Given the description of an element on the screen output the (x, y) to click on. 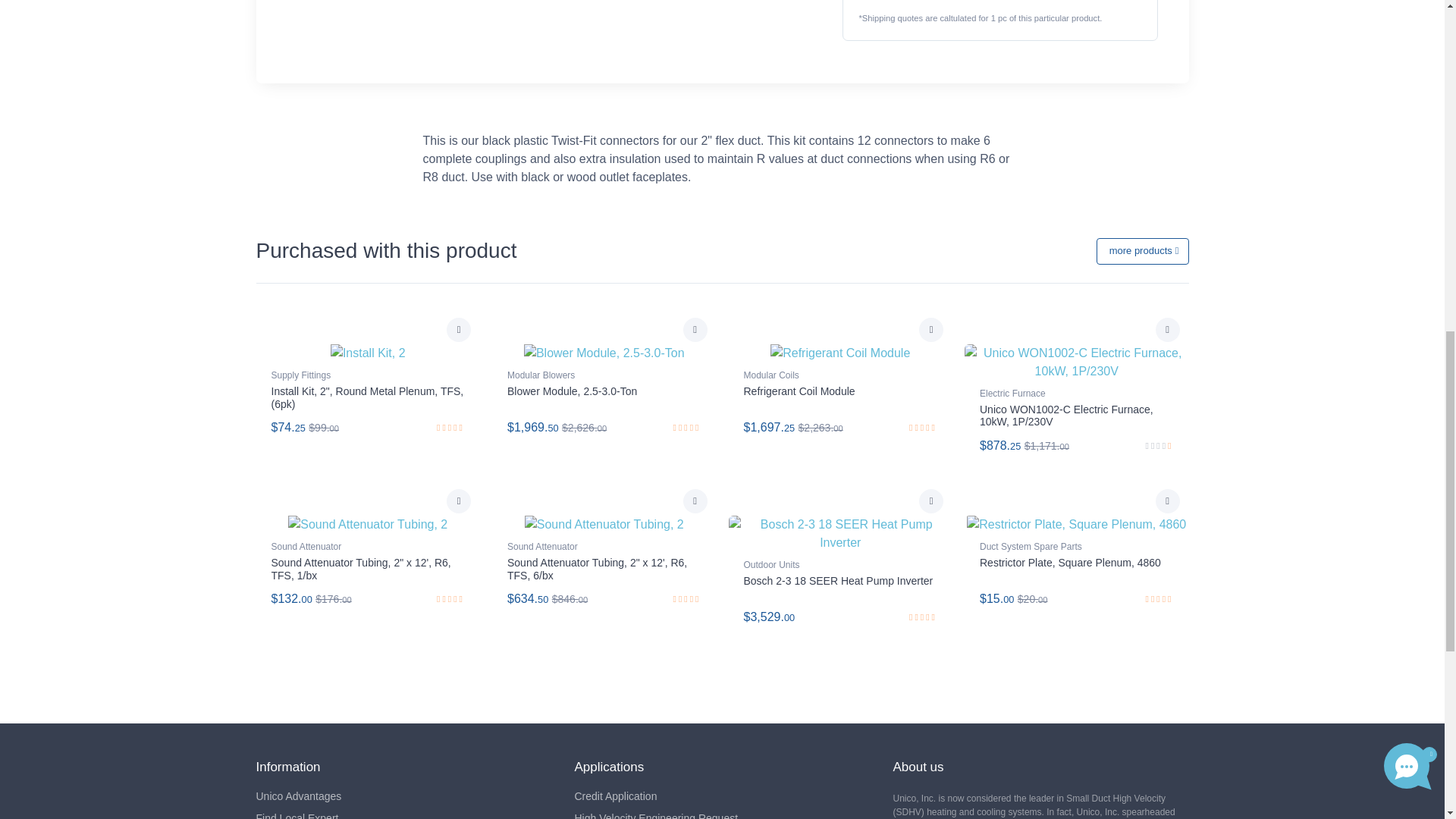
Add to wishlist (1167, 329)
Add to wishlist (694, 329)
Add to wishlist (930, 329)
Add to wishlist (694, 500)
Add to wishlist (1167, 500)
Add to wishlist (458, 500)
Add to wishlist (458, 329)
Add to wishlist (930, 500)
